Given the description of an element on the screen output the (x, y) to click on. 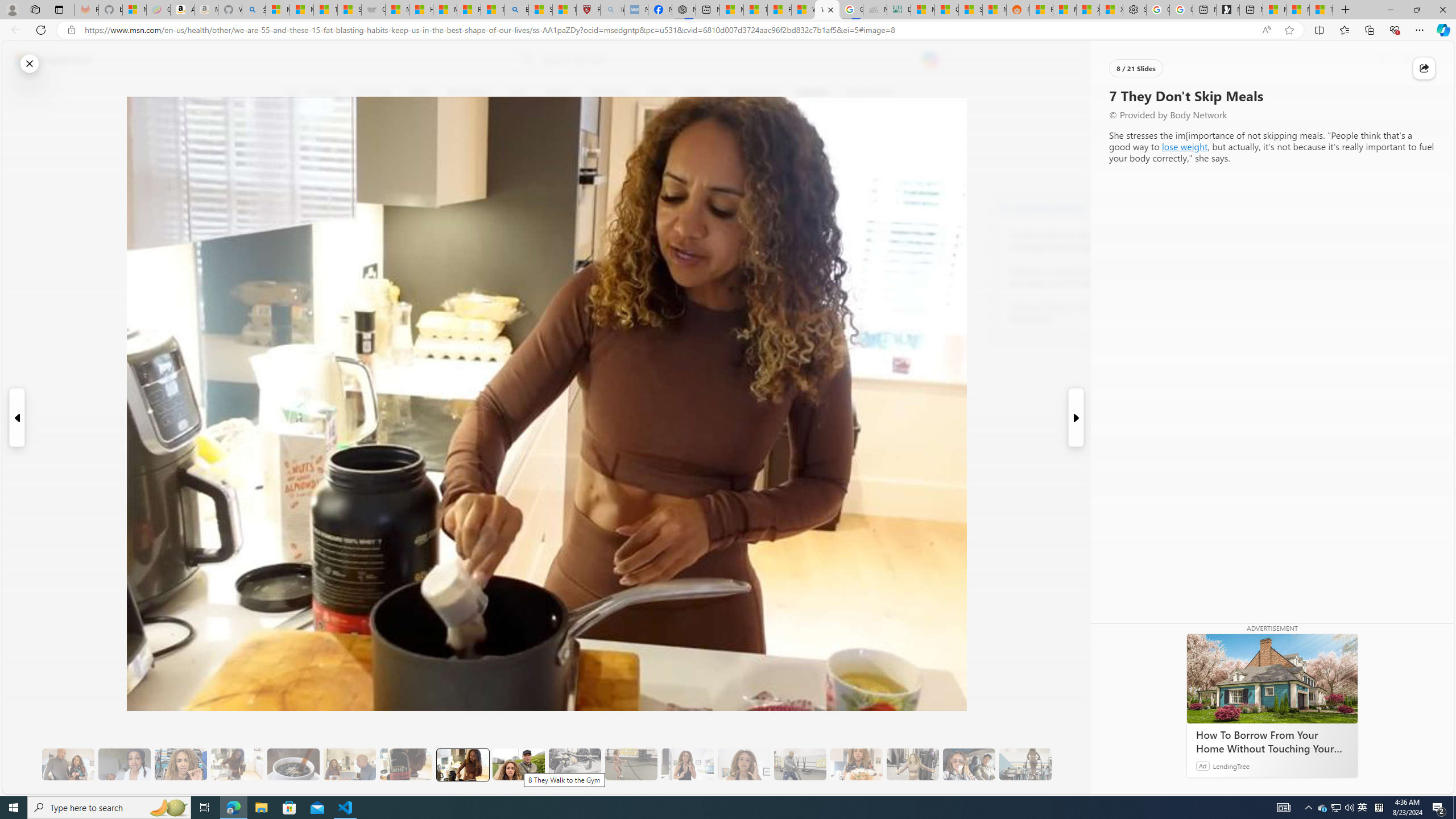
2 They Use Protein Powder for Flavor (180, 764)
How To Borrow From Your Home Without Touching Your Mortgage (1271, 678)
Crime (657, 92)
Technology (609, 92)
Stocks - MSN (970, 9)
Body Network (449, 147)
10 Then, They Do HIIT Cardio (631, 764)
NCL Adult Asthma Inhaler Choice Guideline - Sleeping (635, 9)
Personalize (1132, 92)
Web search (526, 60)
14 They Have Salmon and Veggies for Dinner (855, 764)
